Given the description of an element on the screen output the (x, y) to click on. 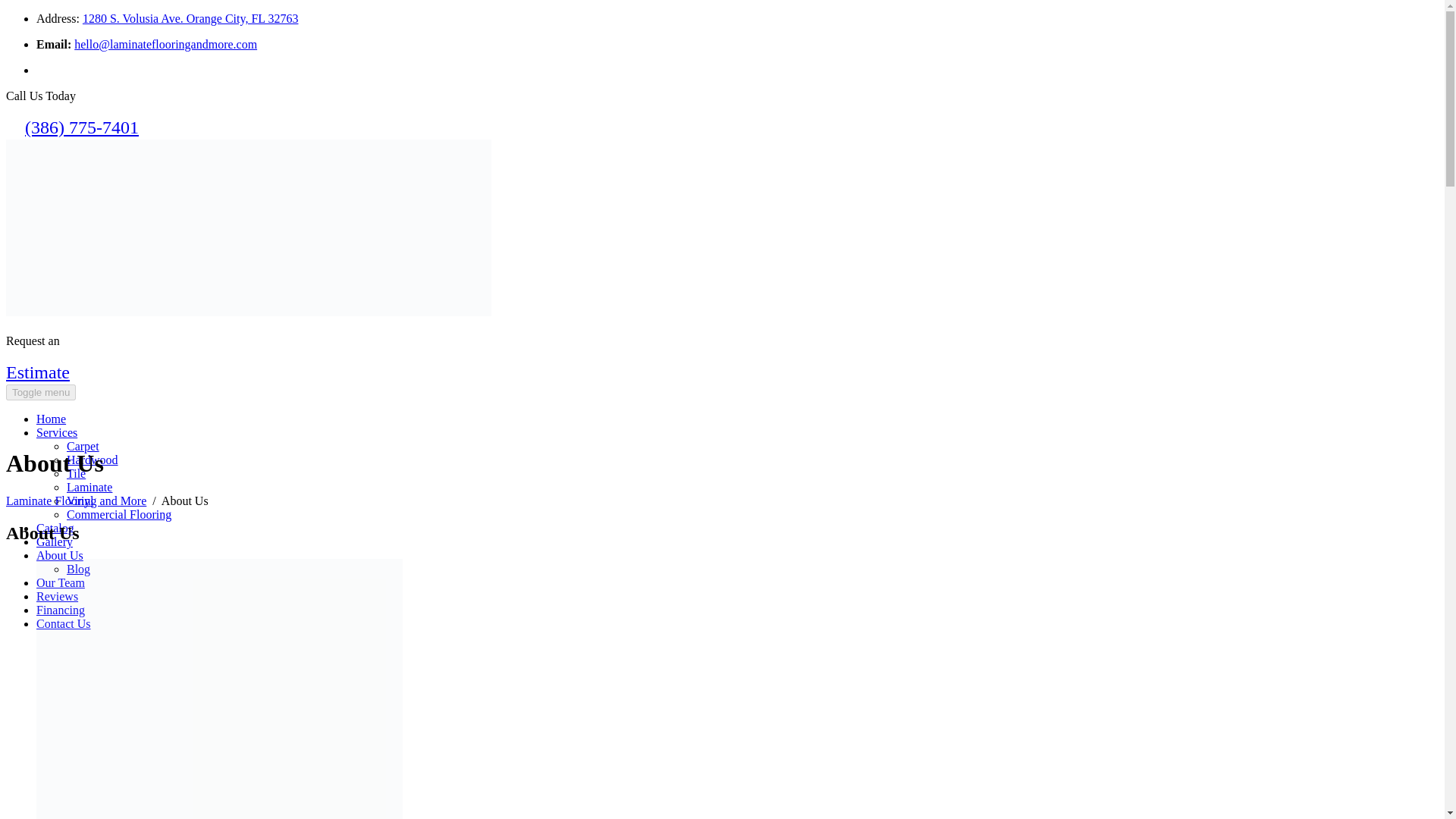
Hardwood (91, 459)
Gallery (54, 541)
Laminate Flooring and More (76, 500)
Go to Laminate Flooring and More. (76, 500)
Contact Us (63, 623)
Laminate Flooring and More (248, 311)
Services (56, 431)
About Us (59, 554)
Reviews (57, 595)
Toggle menu (40, 392)
Commercial Flooring (118, 513)
Estimate (37, 372)
Vinyl (79, 500)
Carpet (82, 445)
Laminate (89, 486)
